Given the description of an element on the screen output the (x, y) to click on. 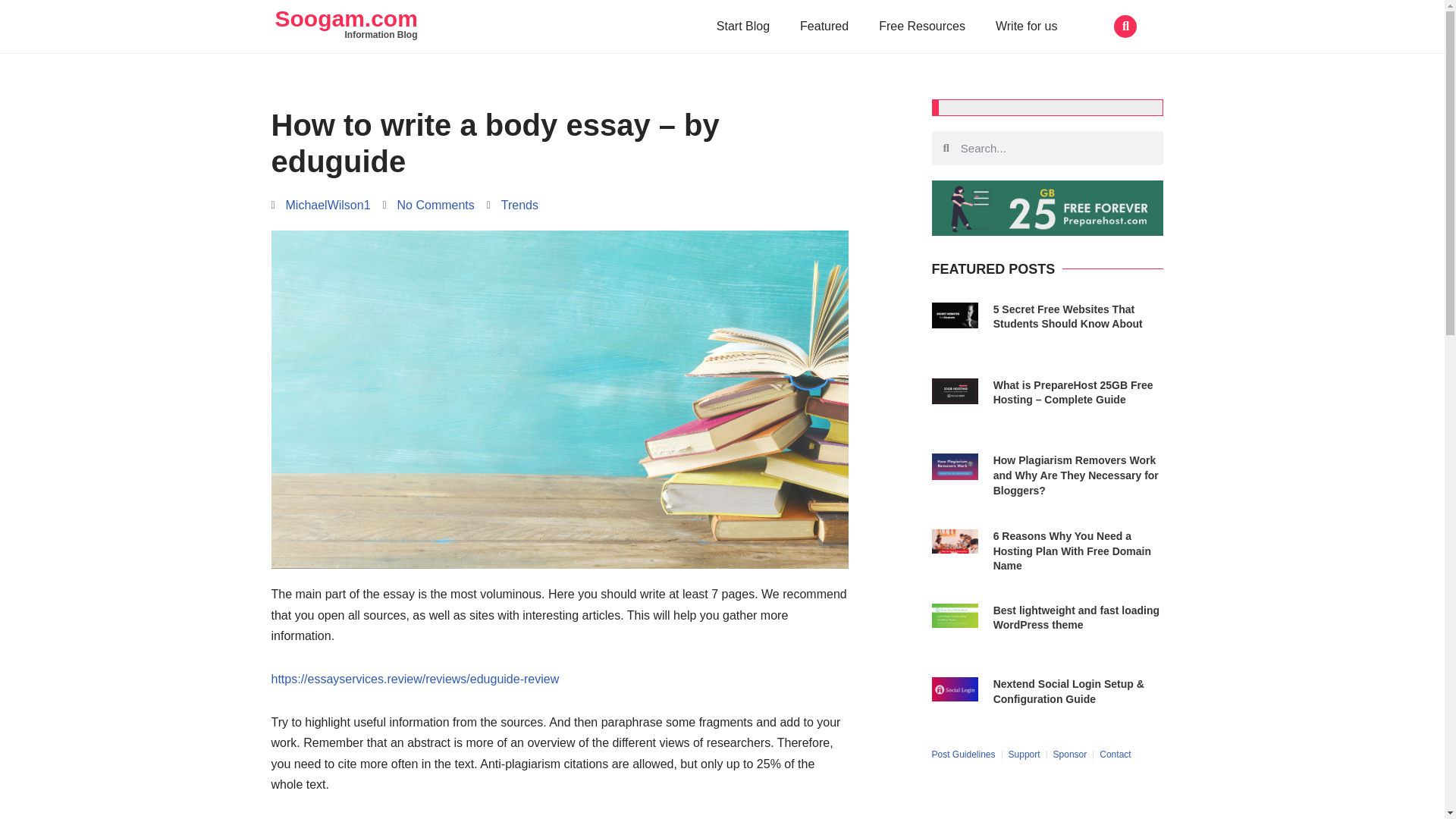
Information Blog (379, 34)
Write for us (1026, 26)
Start Blog (742, 26)
Soogam.com (345, 18)
Skip to content (11, 31)
Featured (823, 26)
Free Resources (921, 26)
Trends (519, 205)
No Comments (428, 204)
MichaelWilson1 (320, 204)
